Given the description of an element on the screen output the (x, y) to click on. 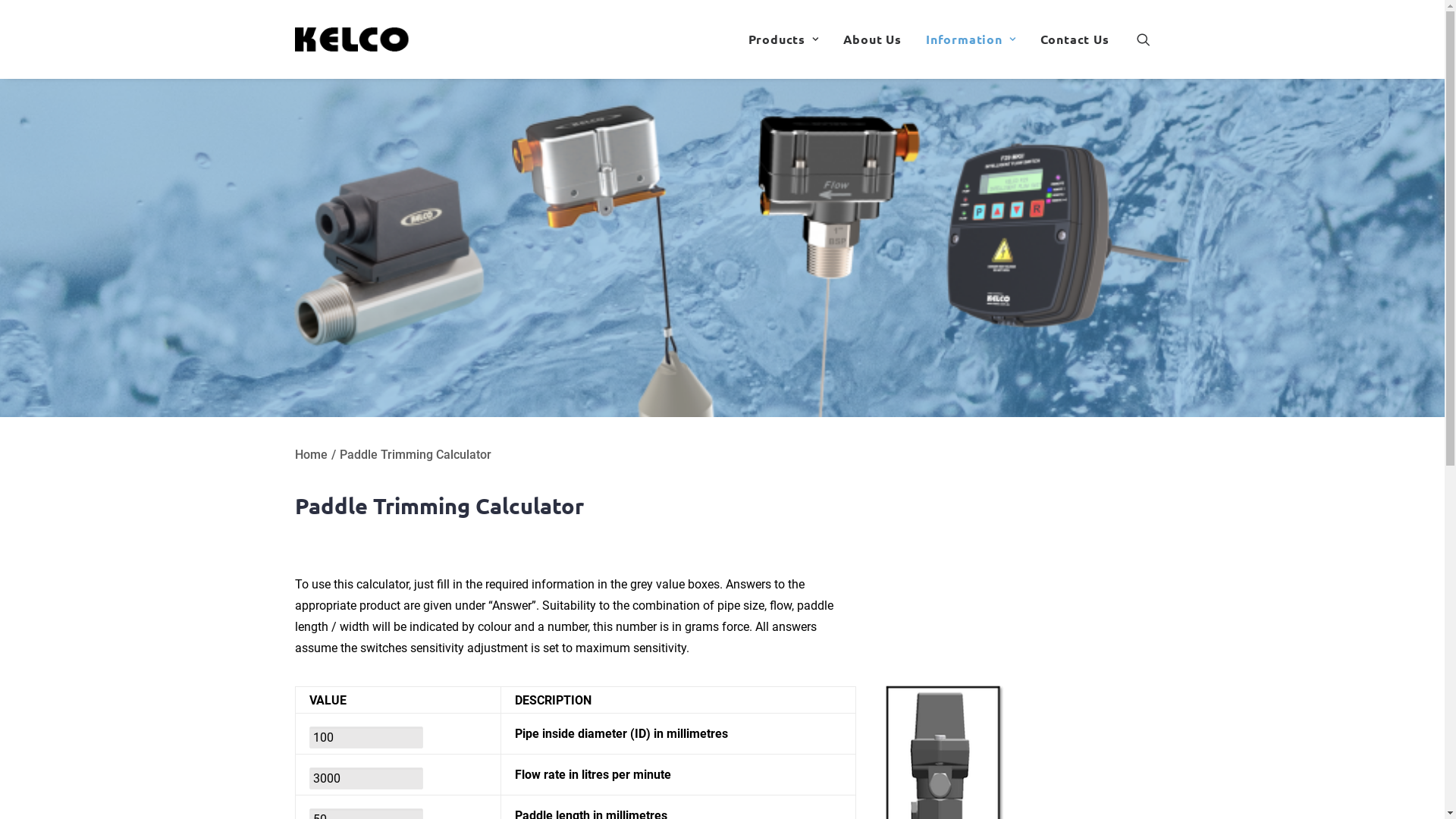
Contact Us Element type: text (1069, 39)
Home Element type: text (310, 454)
100 Element type: text (366, 737)
3000 Element type: text (366, 778)
About Us Element type: text (872, 39)
Information Element type: text (970, 39)
Products Element type: text (783, 39)
